Given the description of an element on the screen output the (x, y) to click on. 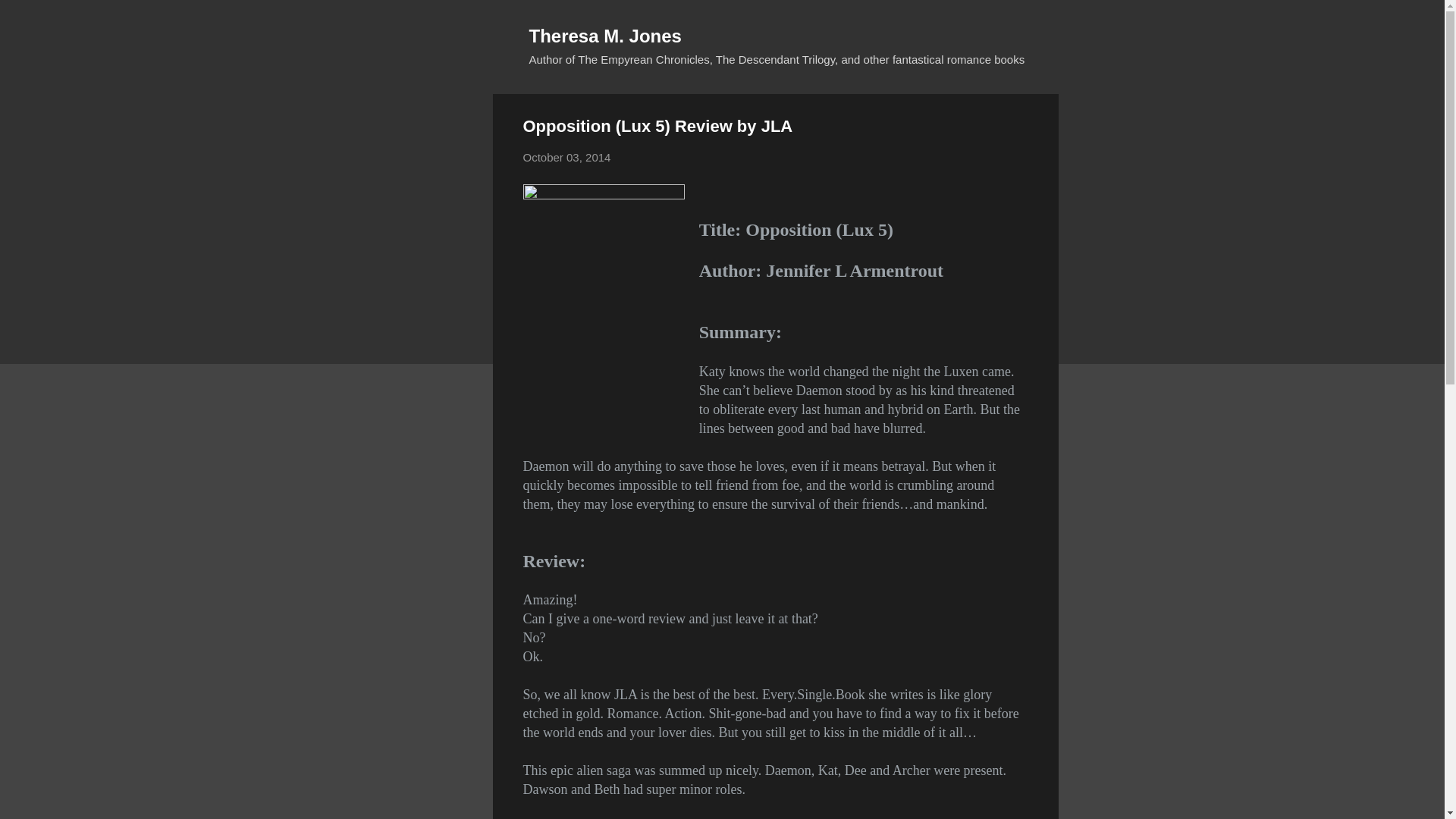
Theresa M. Jones (605, 35)
Search (29, 18)
permanent link (566, 156)
October 03, 2014 (566, 156)
